Given the description of an element on the screen output the (x, y) to click on. 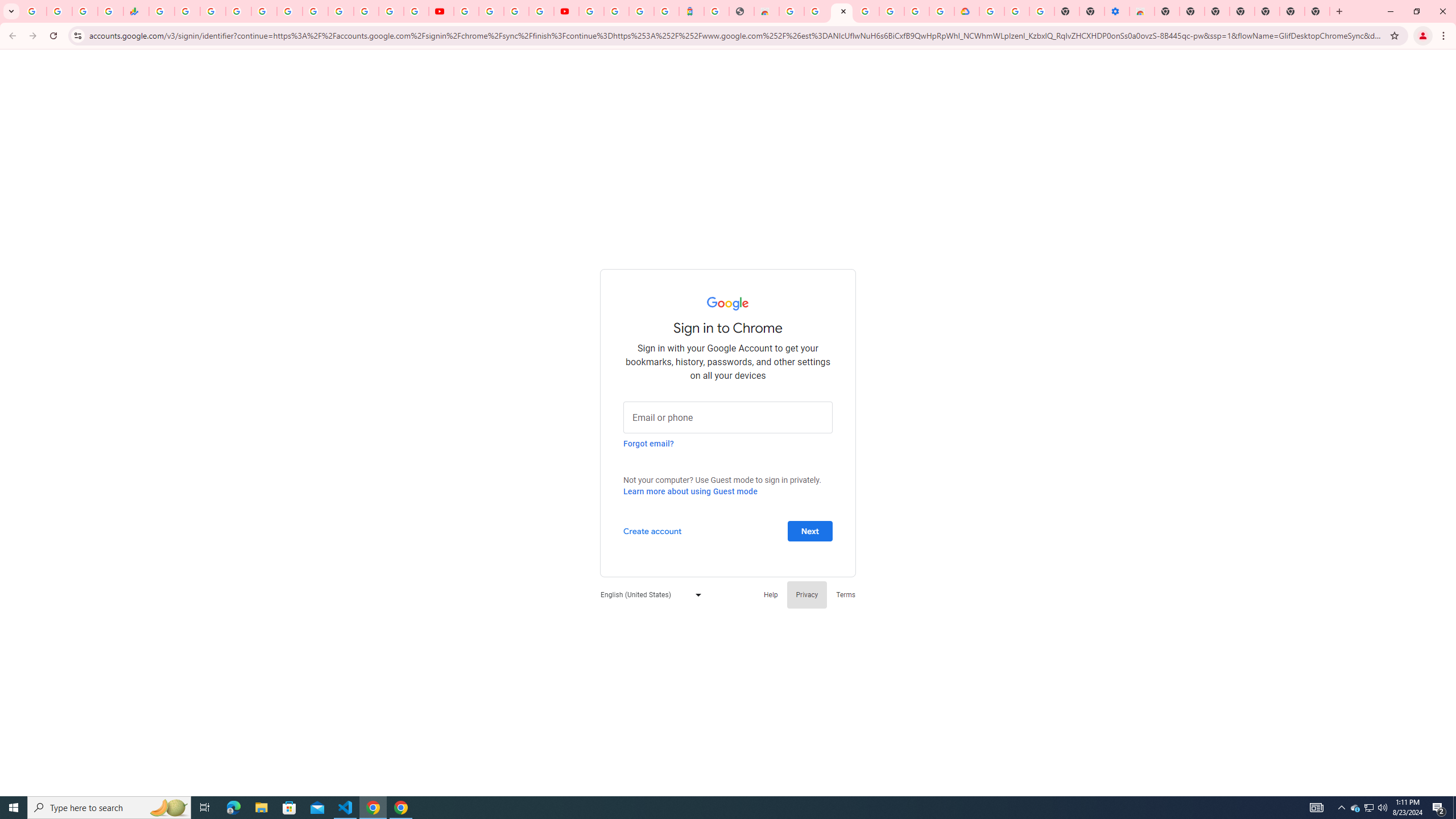
Sign in - Google Accounts (841, 11)
New Tab (1317, 11)
Google Account Help (1016, 11)
Google Account Help (491, 11)
